Given the description of an element on the screen output the (x, y) to click on. 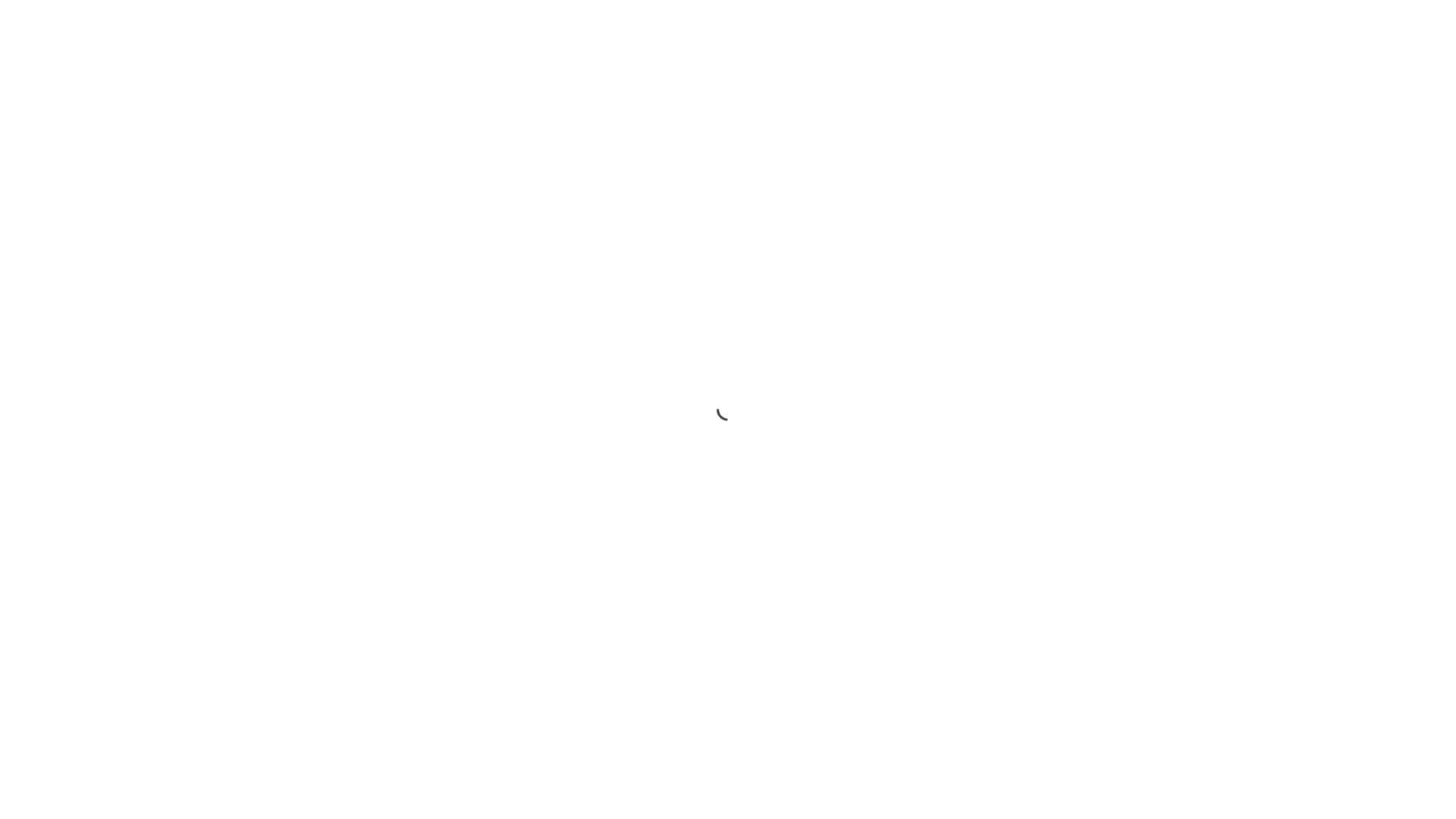
Shebeke Insurance Element type: text (366, 75)
Zakaji Website Element type: text (211, 751)
